Given the description of an element on the screen output the (x, y) to click on. 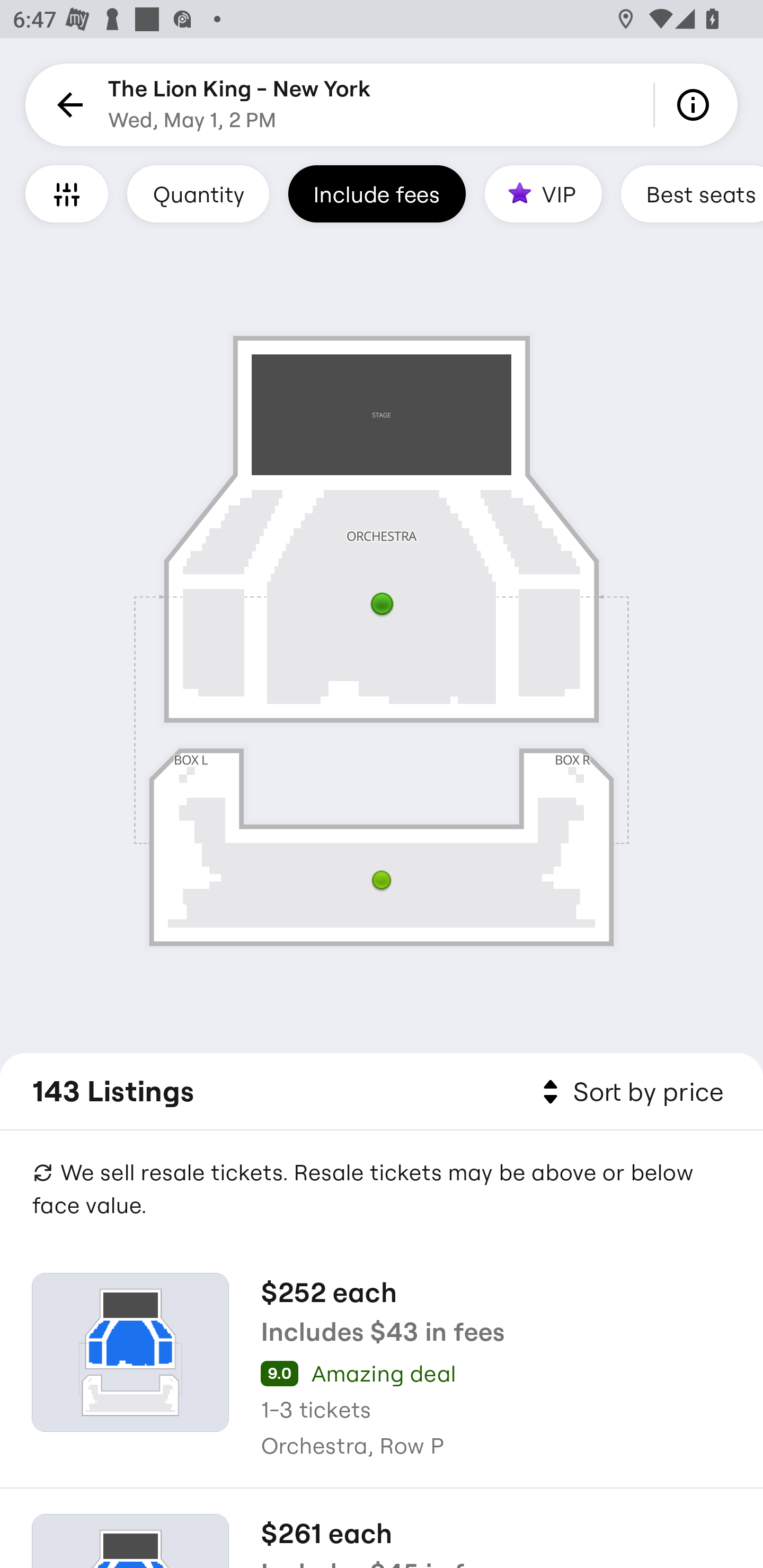
Back (66, 104)
The Lion King - New York Wed, May 1, 2 PM (239, 104)
Info (695, 104)
Filters and Accessible Seating (66, 193)
Quantity (198, 193)
Include fees (376, 193)
VIP (543, 193)
Best seats (692, 193)
Sort by price (629, 1091)
